Given the description of an element on the screen output the (x, y) to click on. 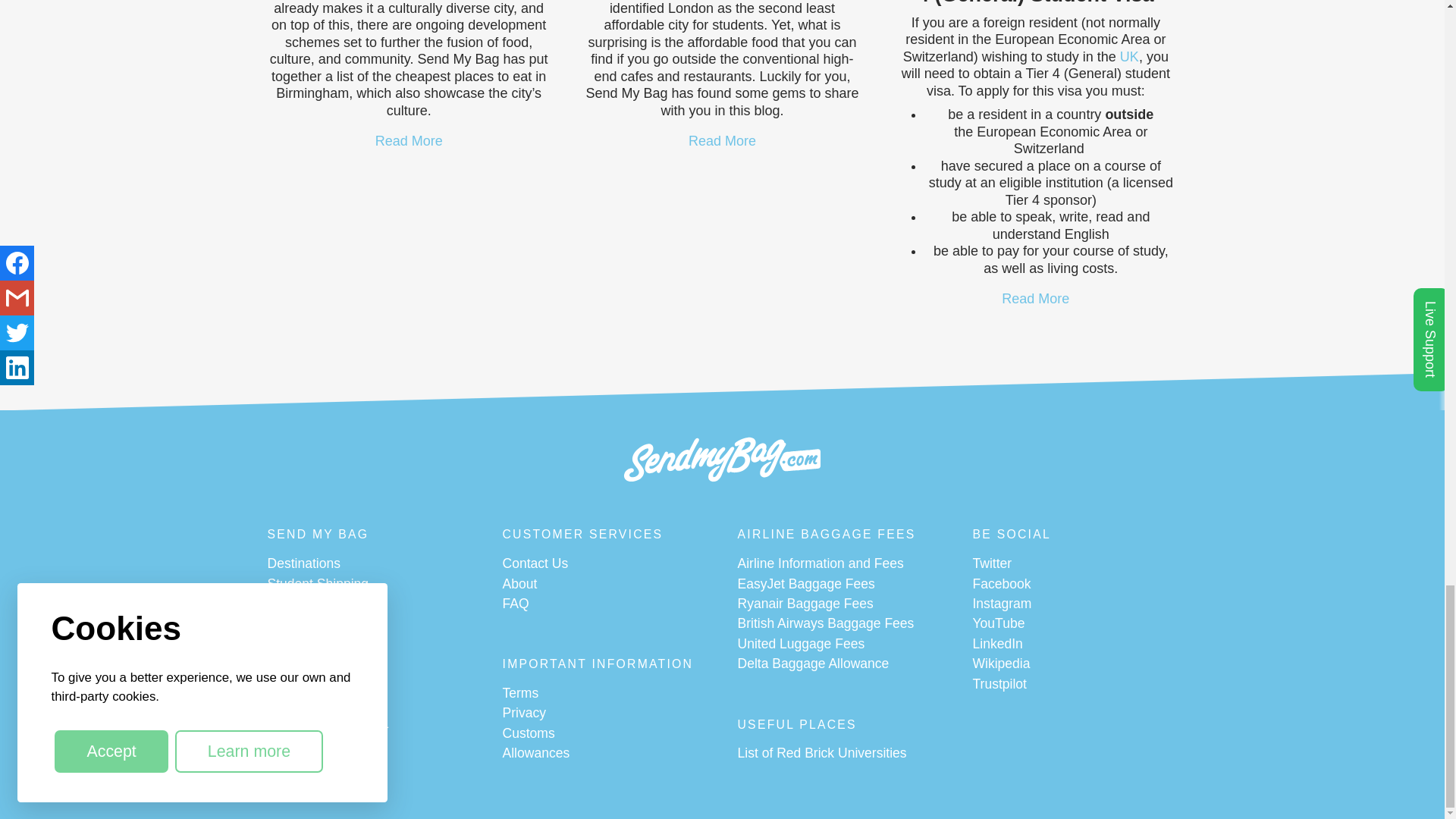
Press (283, 604)
About (519, 583)
Read More (408, 140)
Read More (721, 140)
Send a Parcel (308, 784)
Shipping to USA (315, 704)
UK (1128, 56)
Ski Shipping (303, 644)
Read More (1034, 298)
Student Shipping (317, 583)
Destinations (302, 564)
Contact Us (534, 564)
FAQ (515, 604)
Shipping Golf Clubs (325, 684)
Shipping to Australia (327, 723)
